Given the description of an element on the screen output the (x, y) to click on. 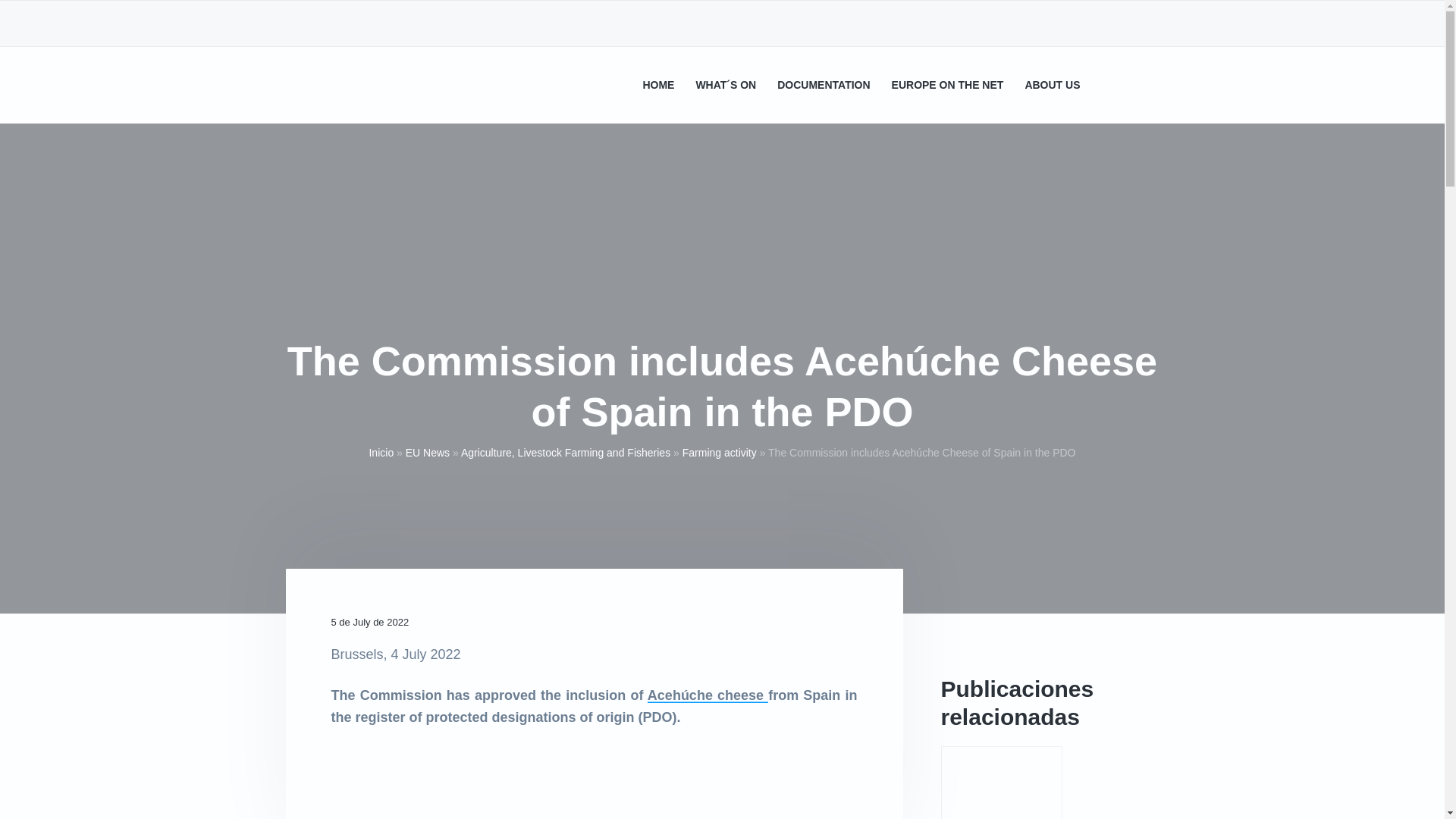
HOME (658, 85)
Spanish team wins Farming by Satellite Prize 2020 (1000, 782)
DOCUMENTATION (823, 85)
ABOUT US (1052, 85)
Inicio (380, 452)
Agriculture, Livestock Farming and Fisheries (565, 452)
EUROPE ON THE NET (947, 85)
EU News (427, 452)
